Given the description of an element on the screen output the (x, y) to click on. 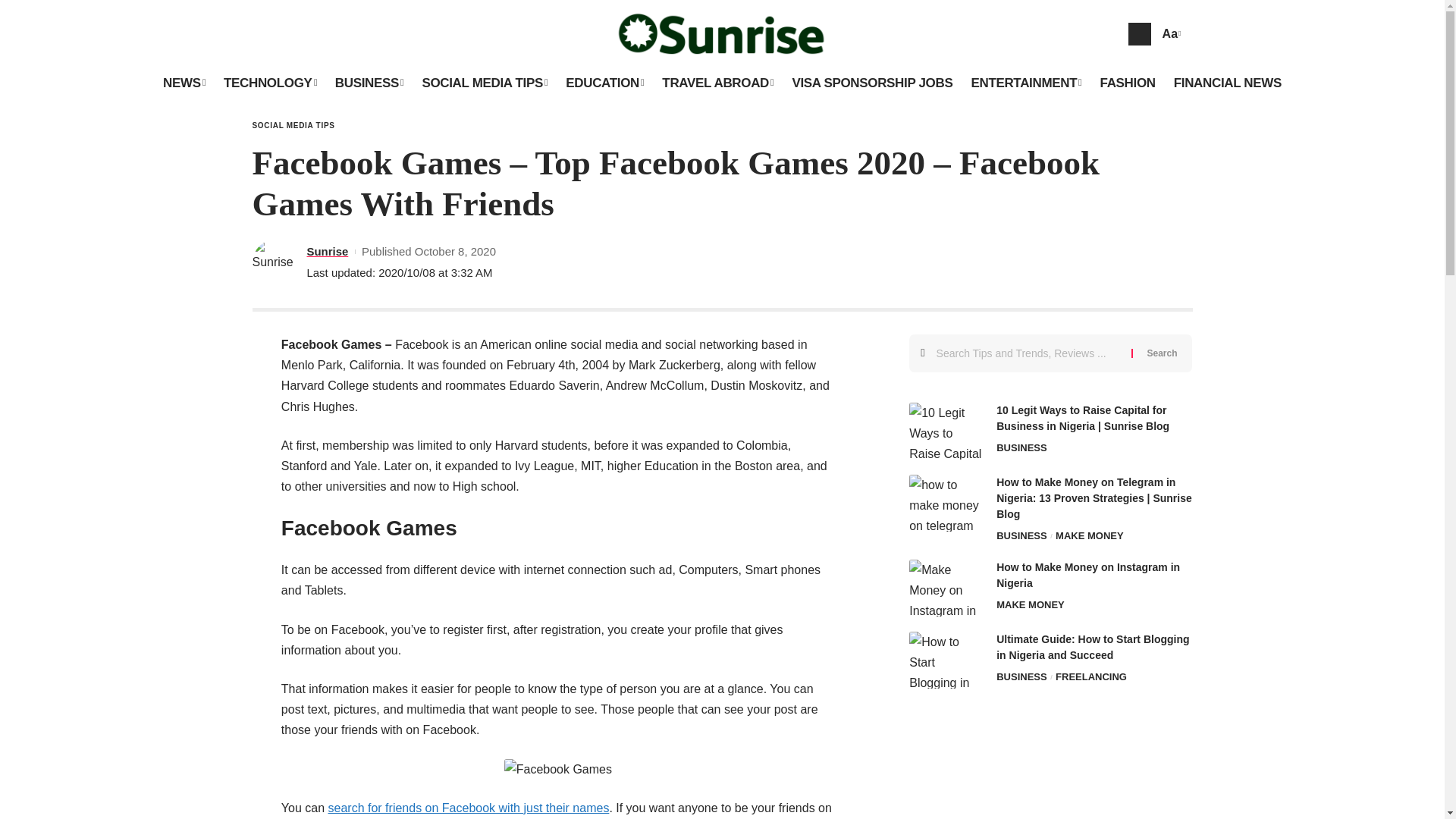
Search (1161, 353)
TECHNOLOGY (270, 82)
NEWS (184, 82)
SunRise (722, 33)
BUSINESS (369, 82)
Aa (1169, 33)
